Given the description of an element on the screen output the (x, y) to click on. 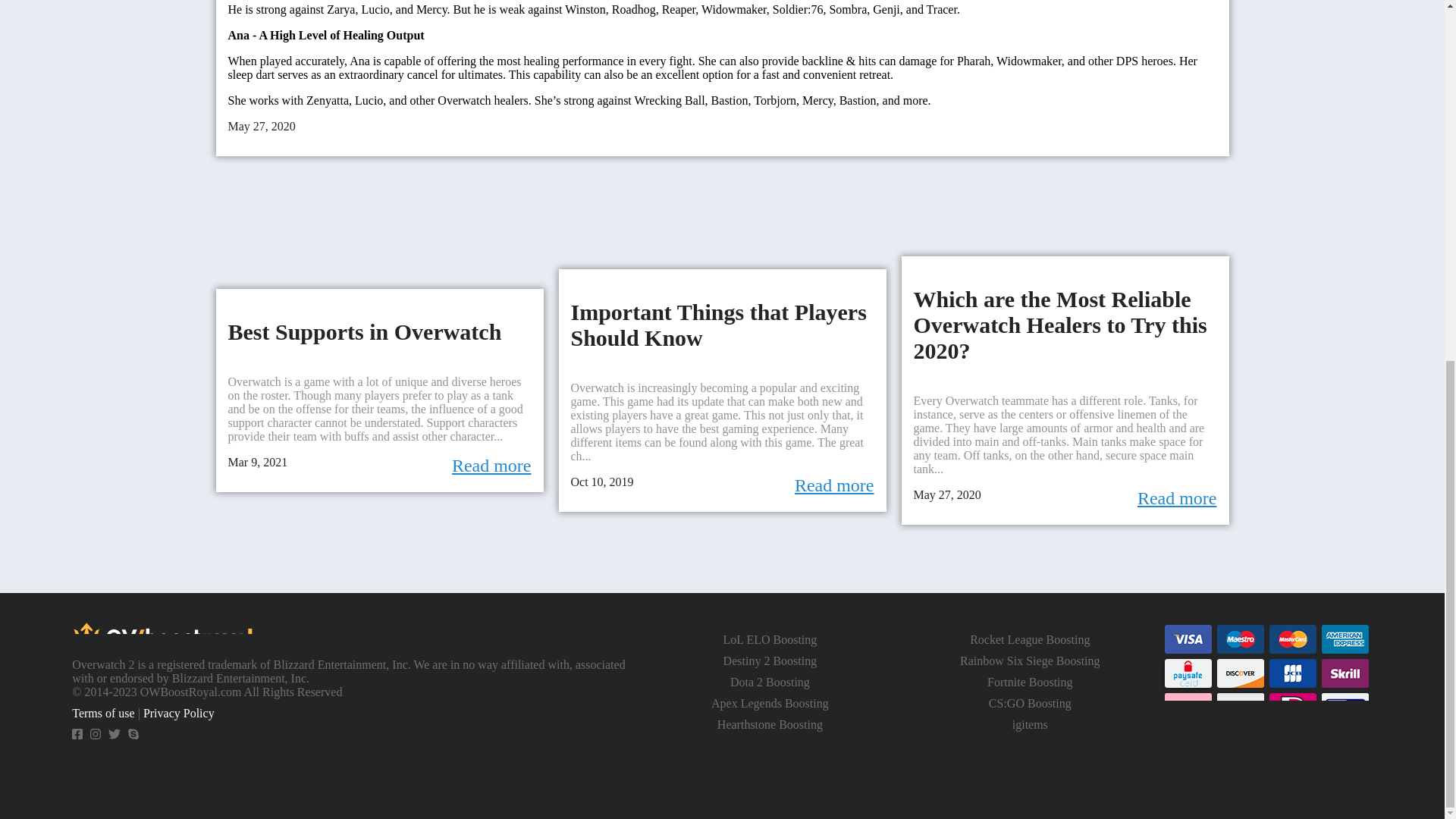
Destiny 2 Boosting (769, 660)
Rainbow Six Siege Boosting (1029, 660)
CS:GO Boosting (1029, 703)
Terms of use (102, 712)
Read more (834, 485)
igitems (1029, 724)
Fortnite Boosting (1029, 681)
Privacy Policy (178, 712)
LoL ELO Boosting (769, 639)
Privacy Policy (178, 712)
Rocket League Boosting (1029, 639)
Terms of use (102, 712)
Read more (491, 465)
Dota 2 Boosting (769, 681)
Hearthstone Boosting (769, 724)
